Given the description of an element on the screen output the (x, y) to click on. 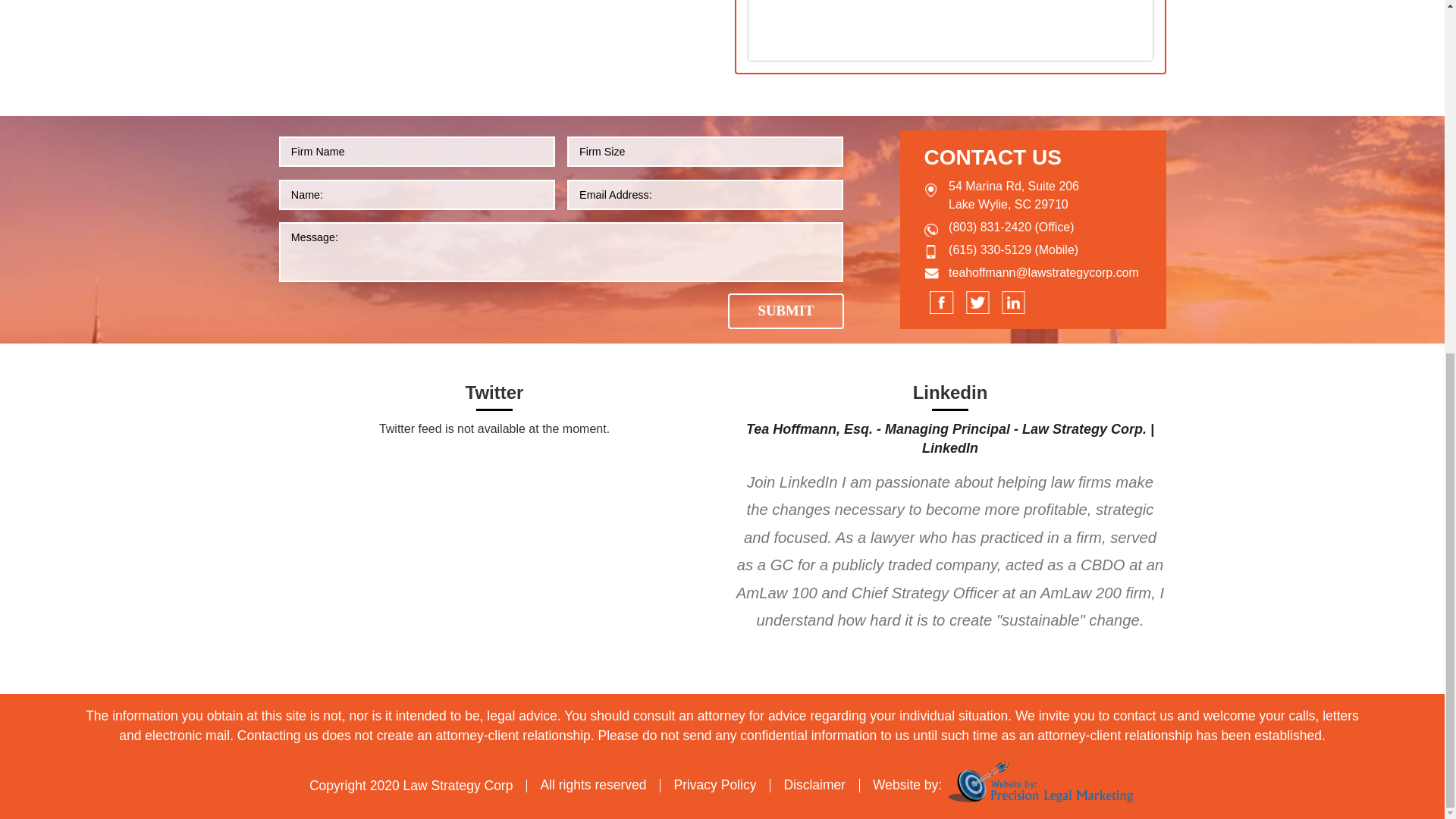
Submit (786, 311)
Privacy Policy (713, 784)
Submit (786, 311)
Disclaimer (814, 784)
